Given the description of an element on the screen output the (x, y) to click on. 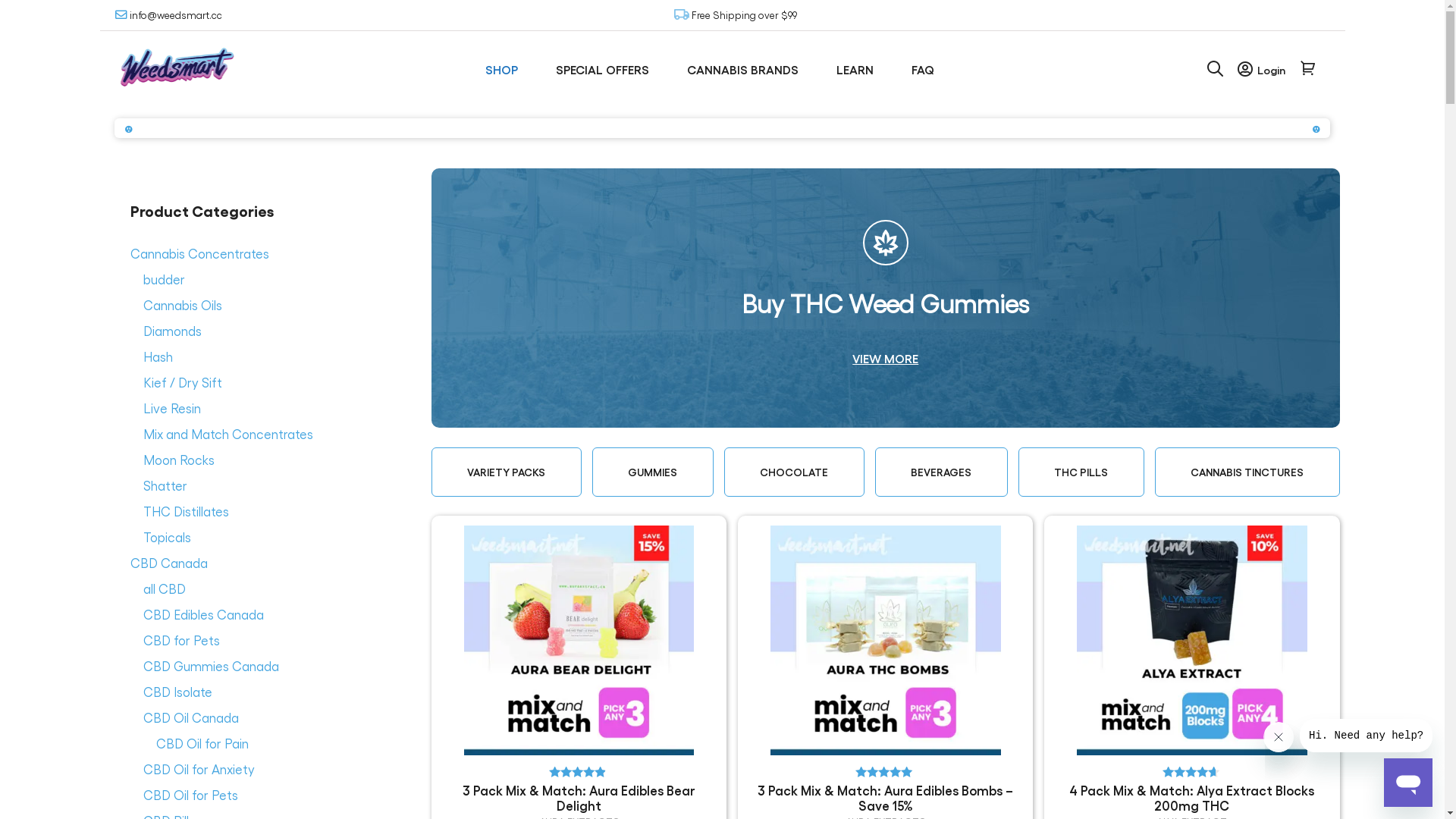
CBD for Pets Element type: text (180, 639)
Message from company Element type: hover (1365, 735)
Close message Element type: hover (1278, 736)
out of 5
3 Pack Mix & Match: Aura Edibles Bear Delight Element type: text (578, 669)
weedsmart_image_Aura THC Bombs Pick any 3 Element type: hover (885, 640)
BEVERAGES Element type: text (941, 471)
CBD Canada Element type: text (168, 562)
Cannabis Concentrates Element type: text (199, 252)
CBD Edibles Canada Element type: text (202, 613)
Free Shipping over $99 Element type: text (750, 15)
out of 5
4 Pack Mix & Match: Alya Extract Blocks 200mg THC Element type: text (1191, 669)
all CBD Element type: text (163, 588)
Moon Rocks Element type: text (177, 459)
CBD Oil for Pets Element type: text (189, 794)
Login Element type: text (1261, 69)
CBD Oil for Anxiety Element type: text (198, 768)
GUMMIES Element type: text (652, 471)
CBD Oil for Pain Element type: text (202, 742)
Cannabis Oils Element type: text (181, 304)
weedsmart_image_Aura Bear Delight Pick any 3 Element type: hover (579, 640)
Hash Element type: text (157, 356)
THC Distillates Element type: text (185, 510)
CBD Gummies Canada Element type: text (210, 665)
CANNABIS TINCTURES Element type: text (1246, 471)
Topicals Element type: text (166, 536)
VIEW MORE Element type: text (885, 358)
SPECIAL OFFERS Element type: text (605, 69)
info@weedsmart.cc Element type: text (168, 15)
Kief / Dry Sift Element type: text (181, 381)
SHOP Element type: text (505, 69)
VARIETY PACKS Element type: text (506, 471)
weedsmart_image_Alya Extract 200mg Blocks Pick any 4 Element type: hover (1191, 640)
budder Element type: text (163, 278)
Shatter Element type: text (164, 484)
CBD Isolate Element type: text (176, 691)
Mix and Match Concentrates Element type: text (227, 433)
View your shopping cart Element type: hover (1307, 69)
THC PILLS Element type: text (1081, 471)
Live Resin Element type: text (171, 407)
CANNABIS BRANDS Element type: text (746, 69)
LEARN Element type: text (858, 69)
FAQ Element type: text (926, 69)
Button to launch messaging window Element type: hover (1407, 782)
CBD Oil Canada Element type: text (190, 716)
Diamonds Element type: text (171, 330)
CHOCOLATE Element type: text (794, 471)
